Given the description of an element on the screen output the (x, y) to click on. 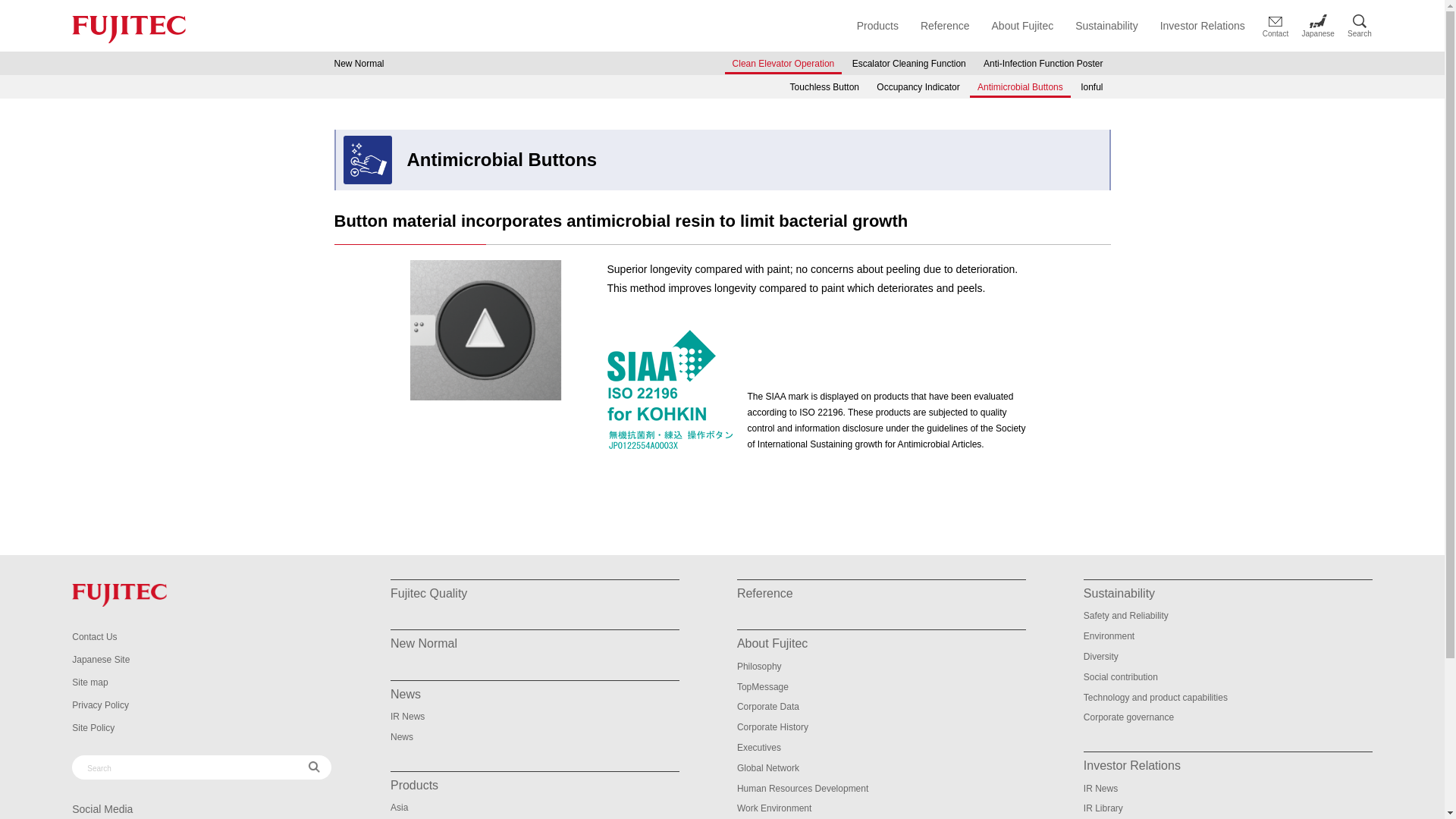
Privacy Policy (100, 705)
Reference (944, 25)
Sustainability (1106, 25)
Anti-Infection Function Poster (1043, 61)
Escalator Cleaning Function (908, 61)
Site map (89, 682)
About Fujitec (1022, 25)
Contact (1275, 26)
Ionful (1091, 85)
Clean Elevator Operation (783, 61)
Products (877, 25)
Touchless Button (824, 85)
Japanese Site (100, 659)
Search (1359, 24)
Contact Us (93, 636)
